Given the description of an element on the screen output the (x, y) to click on. 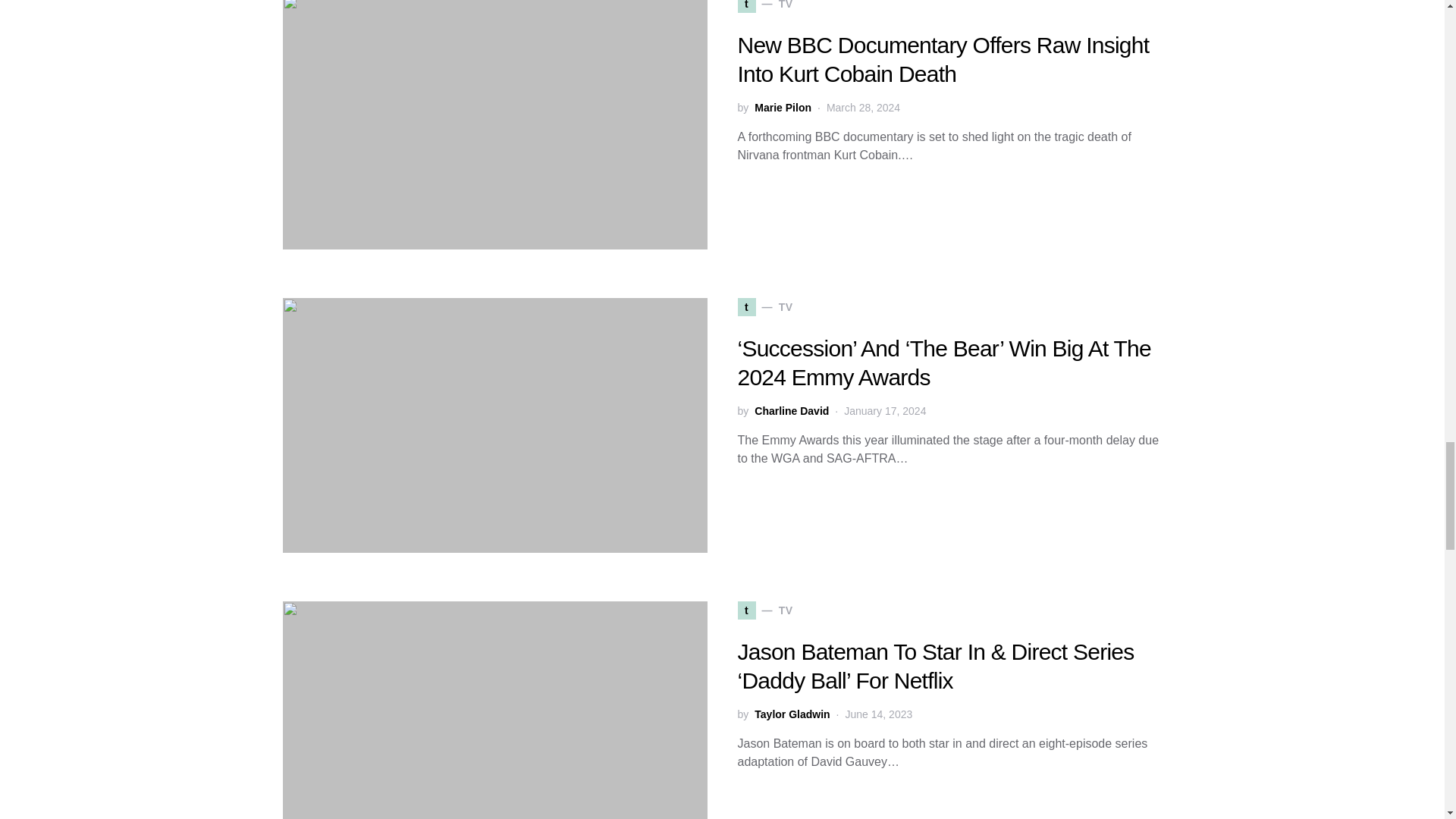
View all posts by Taylor Gladwin (791, 714)
View all posts by Charline David (791, 411)
View all posts by Marie Pilon (782, 107)
